Given the description of an element on the screen output the (x, y) to click on. 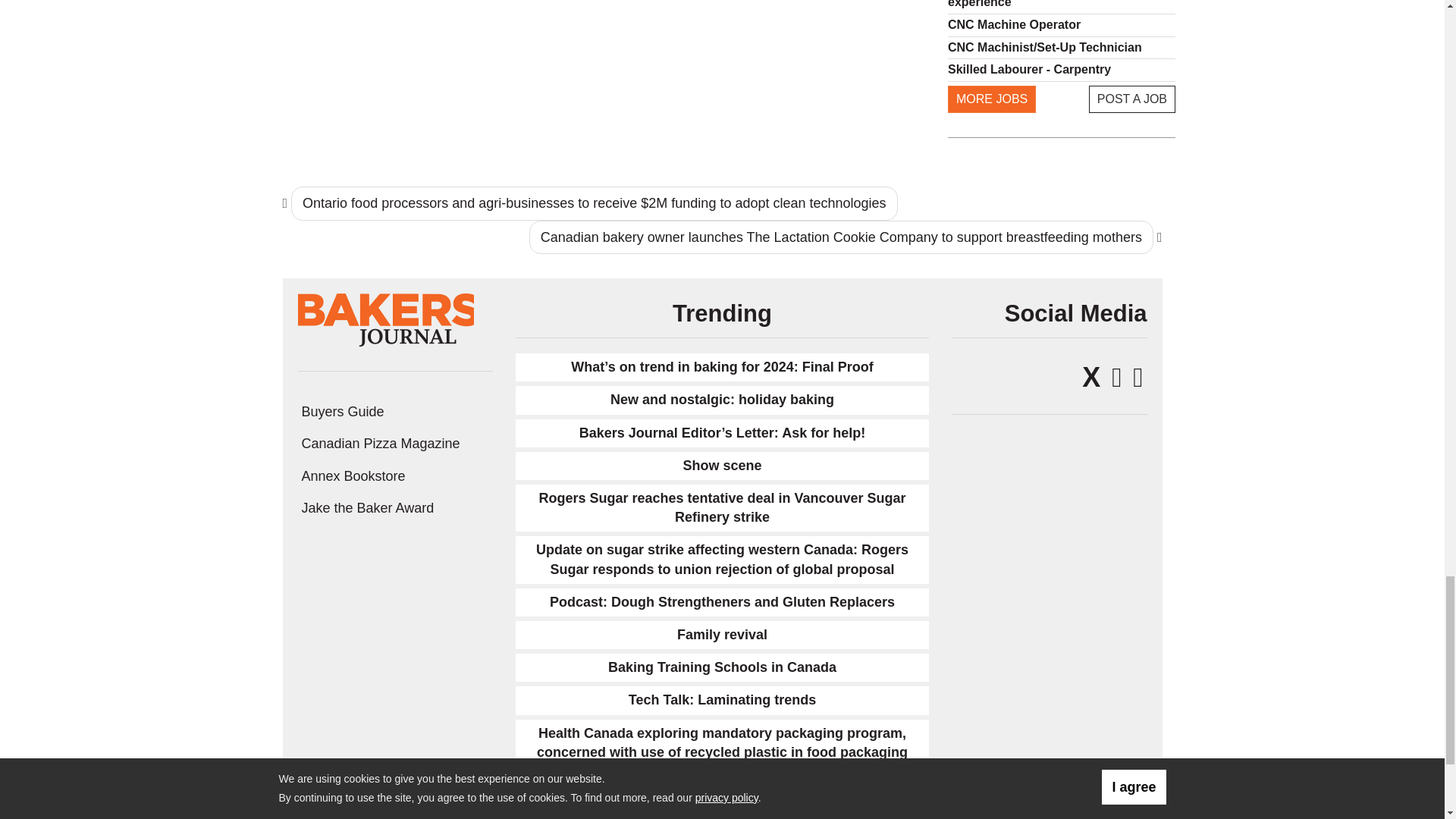
Bakers Journal (386, 319)
